Given the description of an element on the screen output the (x, y) to click on. 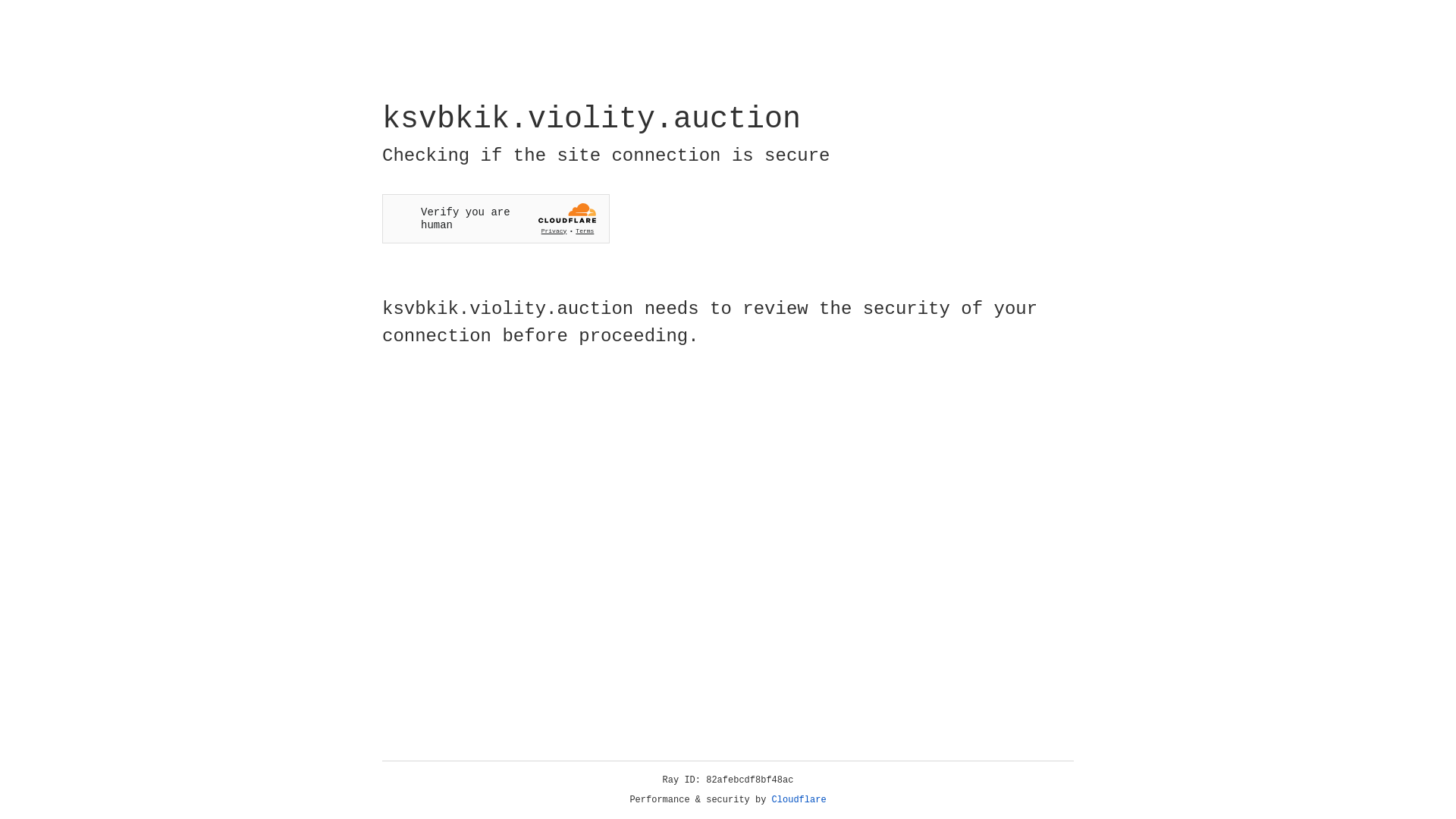
Widget containing a Cloudflare security challenge Element type: hover (495, 218)
Cloudflare Element type: text (798, 799)
